Given the description of an element on the screen output the (x, y) to click on. 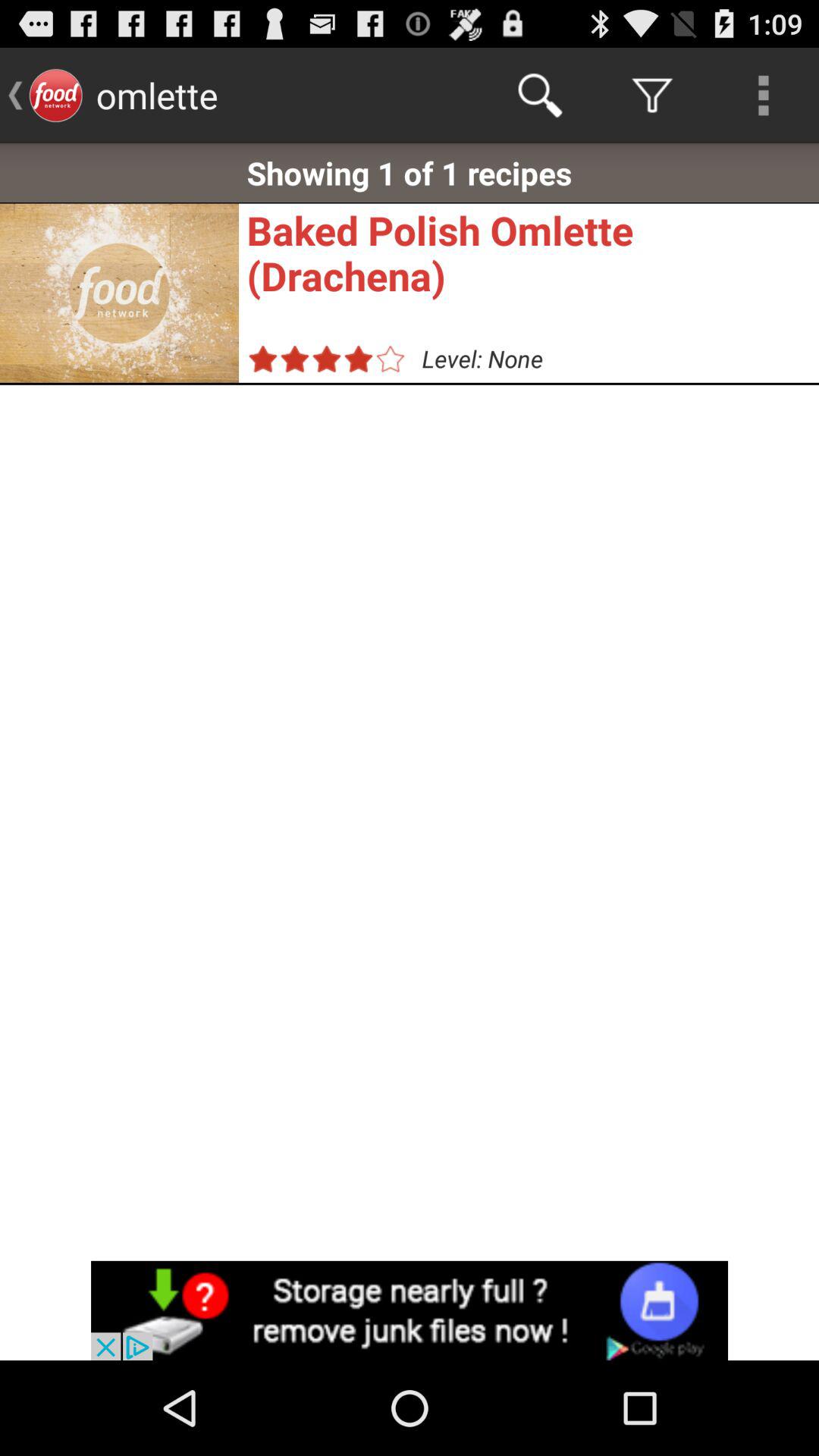
advertisement area (409, 1310)
